Given the description of an element on the screen output the (x, y) to click on. 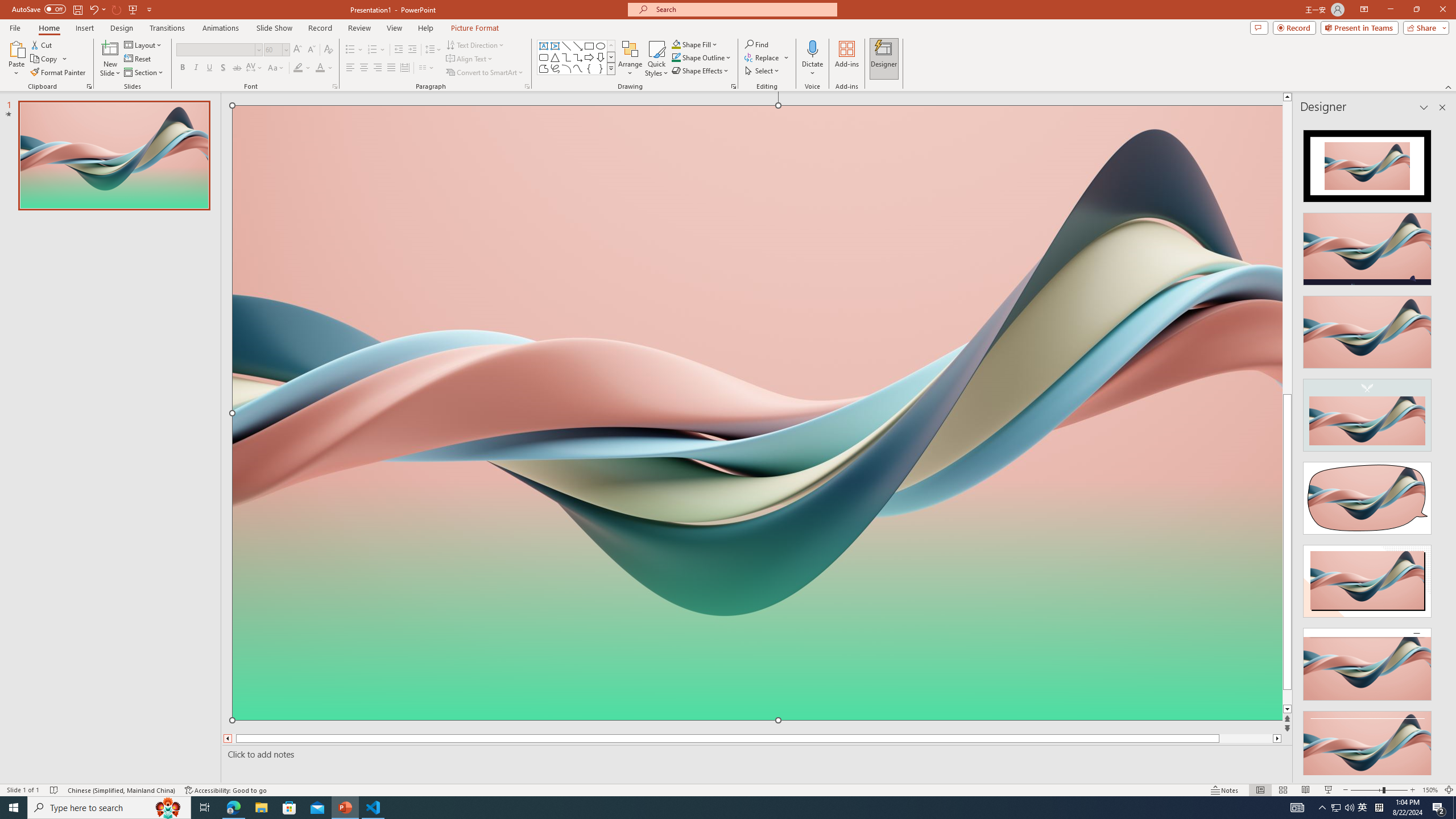
Wavy 3D art (757, 412)
Picture Format (475, 28)
